Given the description of an element on the screen output the (x, y) to click on. 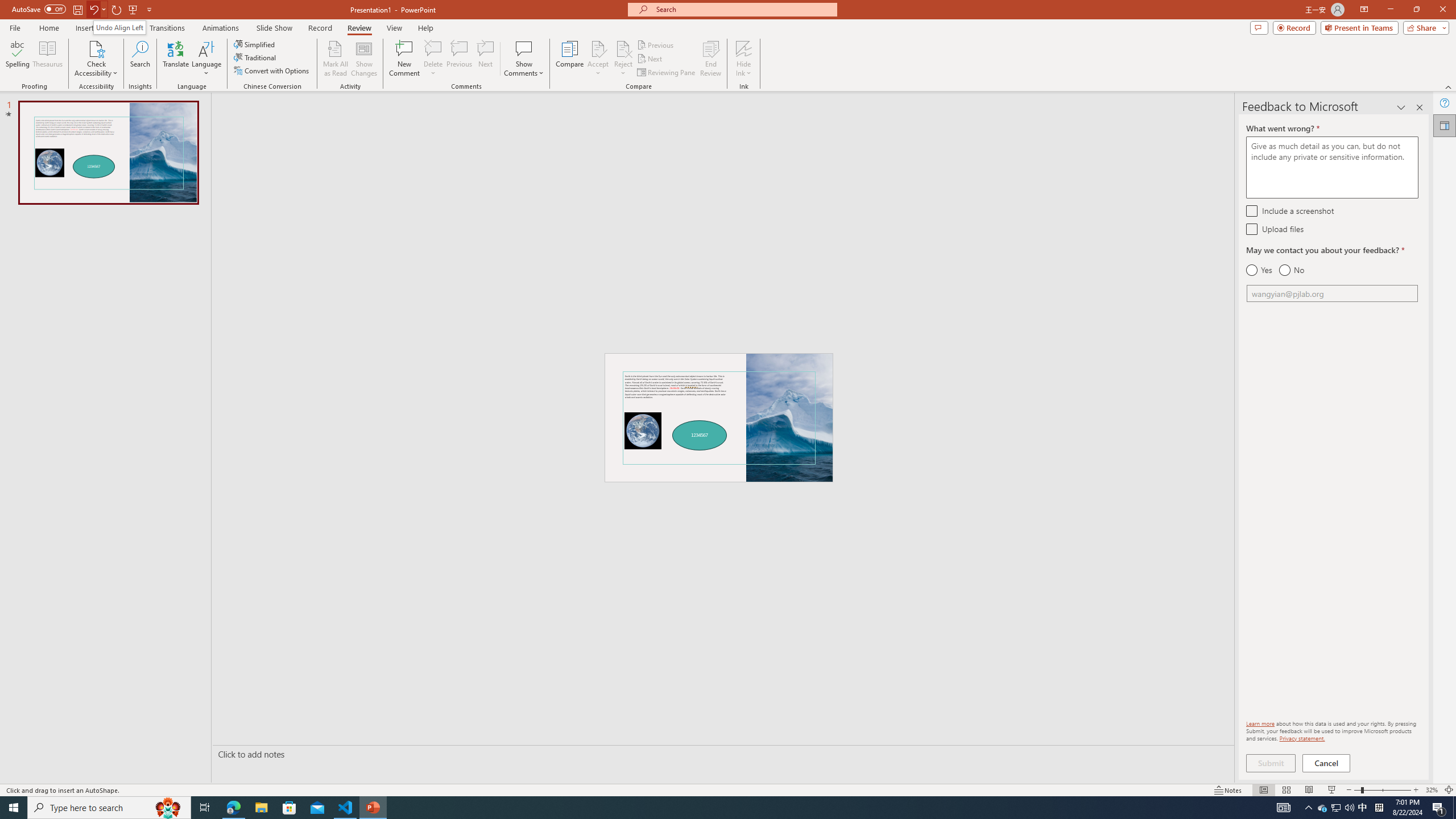
Check Accessibility (95, 58)
Hide Ink (743, 48)
No (1291, 269)
Hide Ink (743, 58)
